Given the description of an element on the screen output the (x, y) to click on. 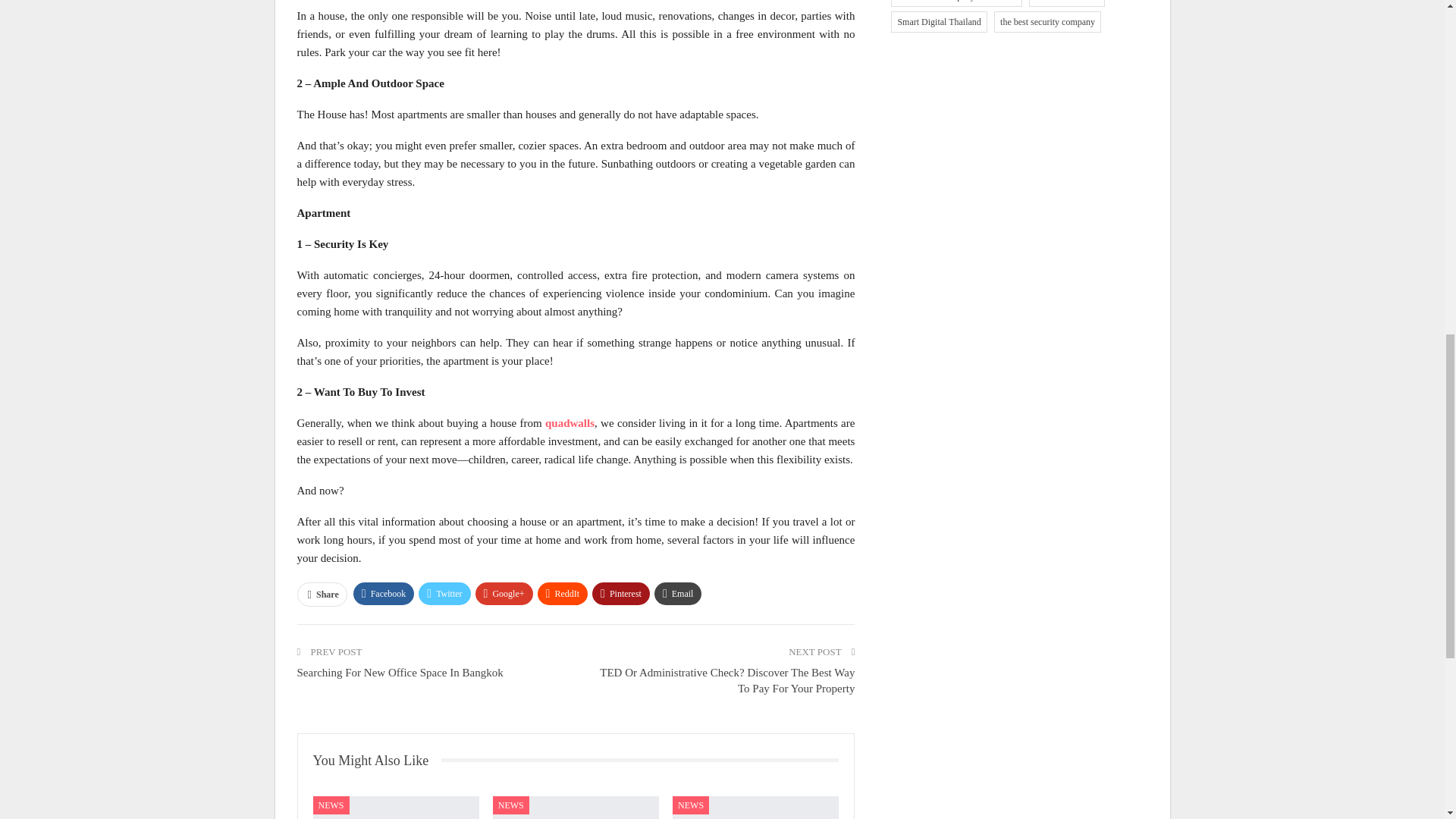
Facebook (383, 593)
NEWS (331, 805)
5 Types of Cancer with the Highest Mortality Rate (755, 807)
Email (677, 593)
ReddIt (562, 593)
Searching For New Office Space In Bangkok (400, 672)
You Might Also Like (377, 760)
Twitter (444, 593)
Pinterest (620, 593)
